Given the description of an element on the screen output the (x, y) to click on. 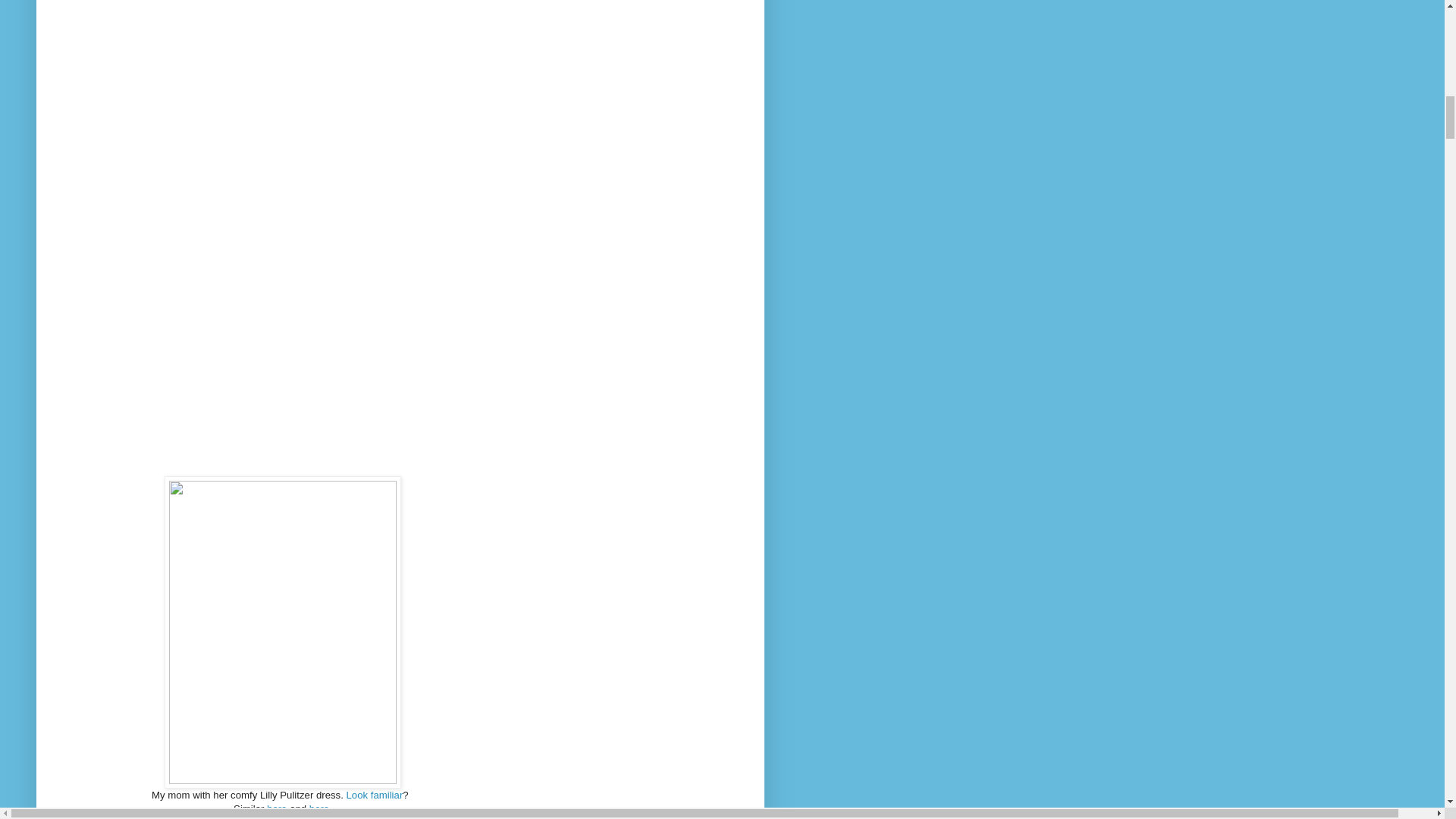
here (318, 808)
Look familiar (374, 794)
here (276, 808)
